Given the description of an element on the screen output the (x, y) to click on. 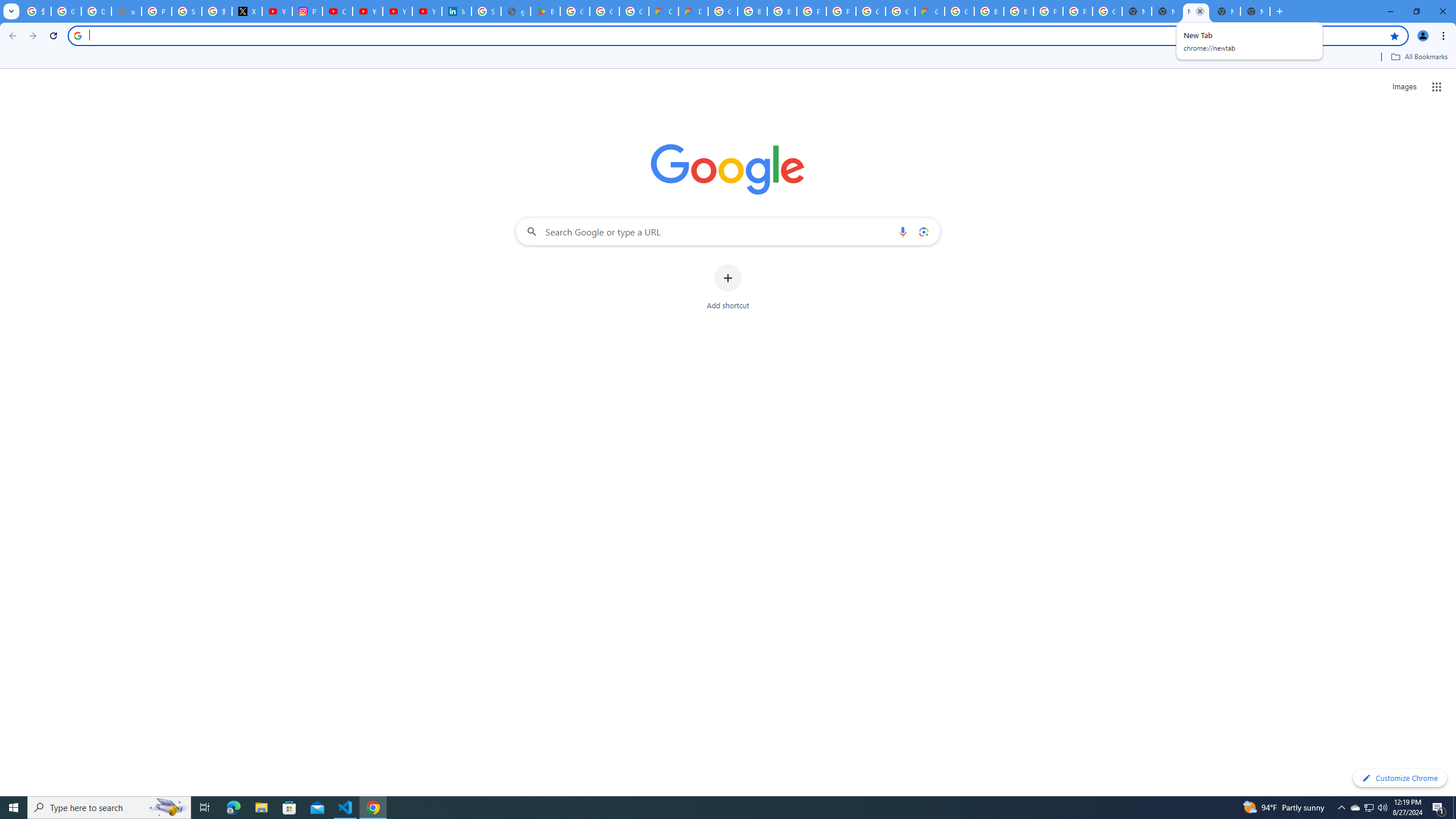
Add shortcut (727, 287)
Privacy Help Center - Policies Help (156, 11)
New Tab (1166, 11)
Browse Chrome as a guest - Computer - Google Chrome Help (989, 11)
